Given the description of an element on the screen output the (x, y) to click on. 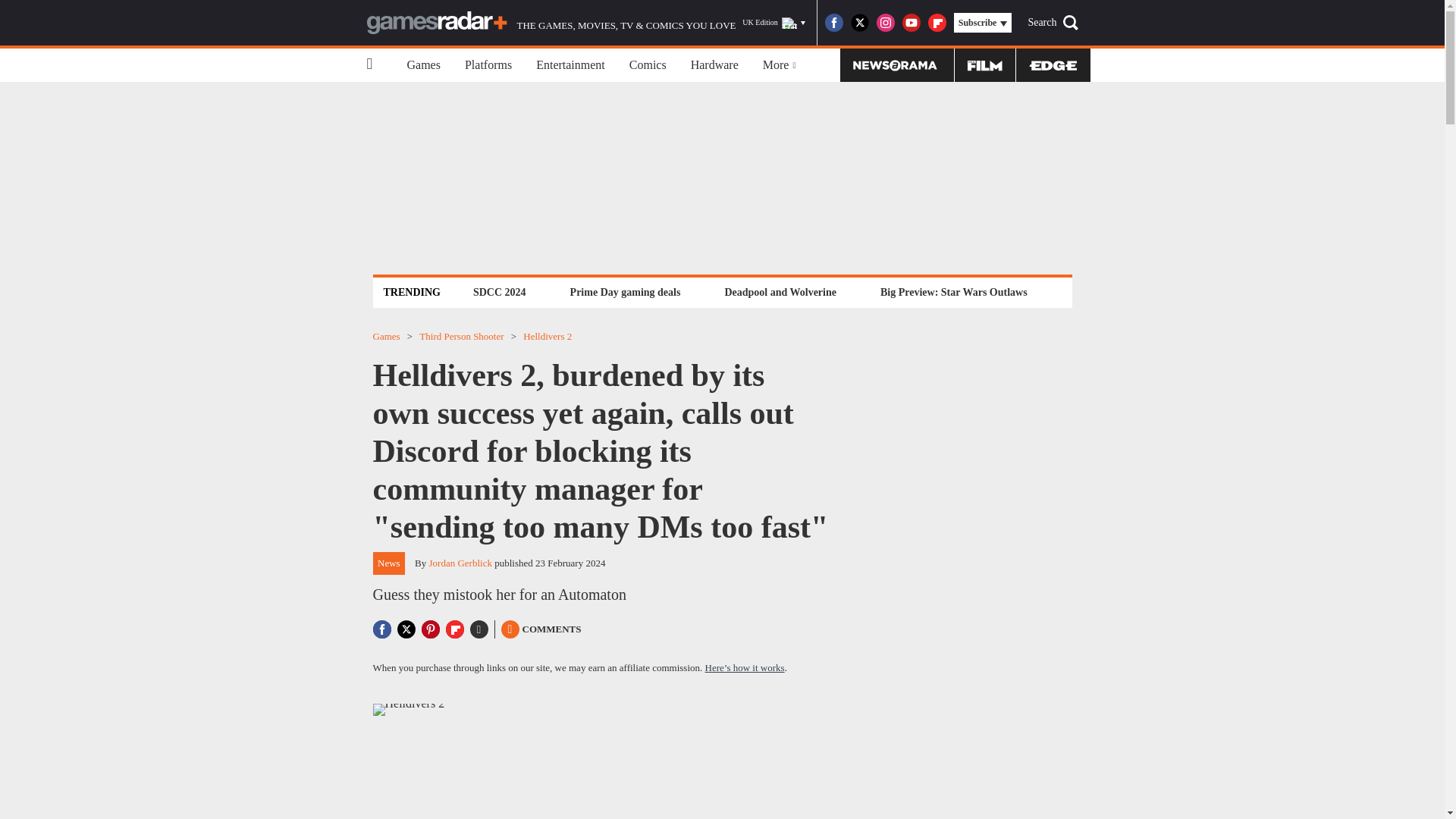
Entertainment (570, 64)
Big Preview: Star Wars Outlaws (953, 292)
Deadpool and Wolverine (780, 292)
Hardware (714, 64)
UK Edition (773, 22)
SDCC 2024 (499, 292)
Games (422, 64)
Comics (647, 64)
Prime Day gaming deals (624, 292)
Platforms (488, 64)
